Given the description of an element on the screen output the (x, y) to click on. 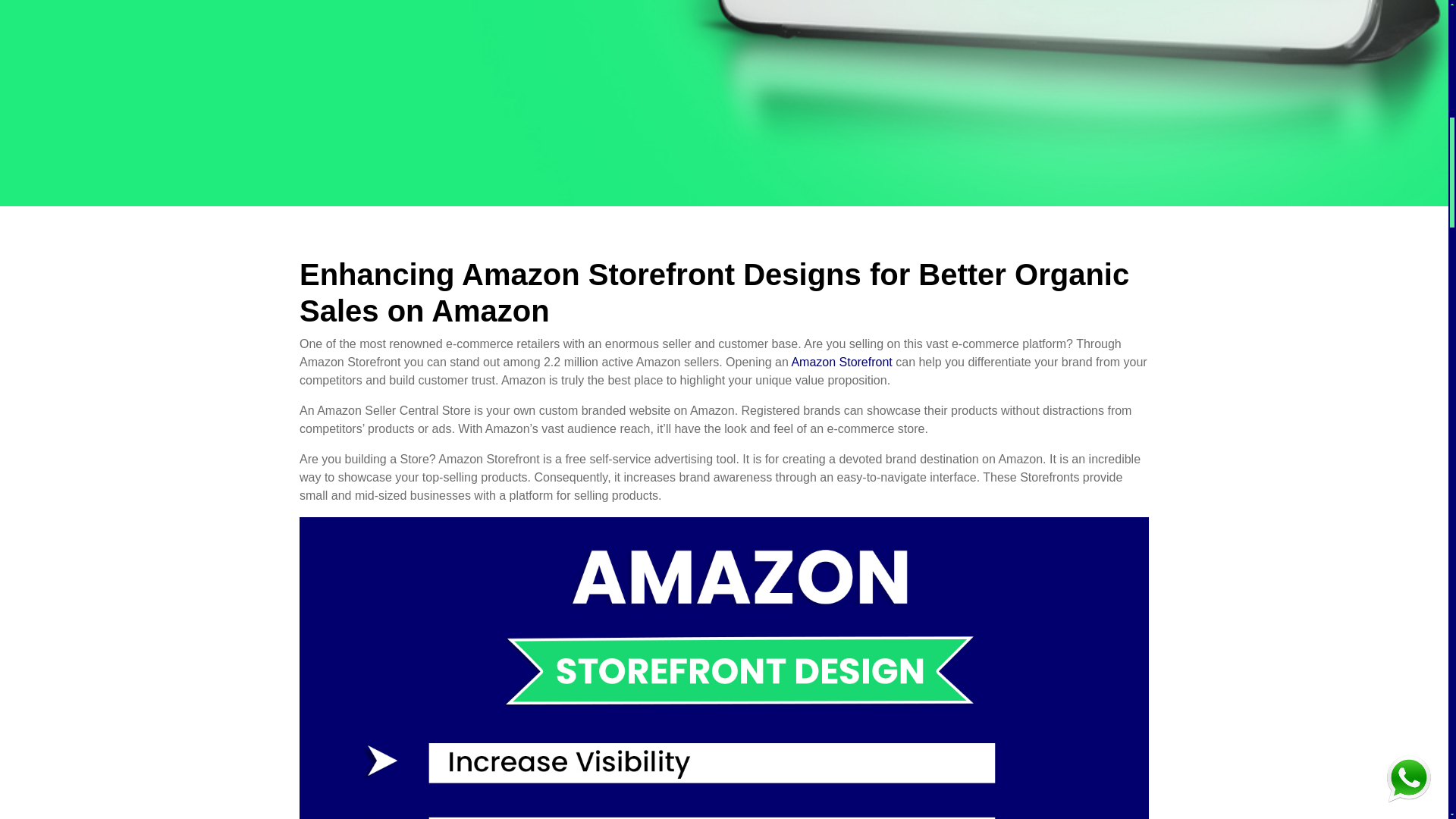
Amazon Storefront (840, 361)
